Given the description of an element on the screen output the (x, y) to click on. 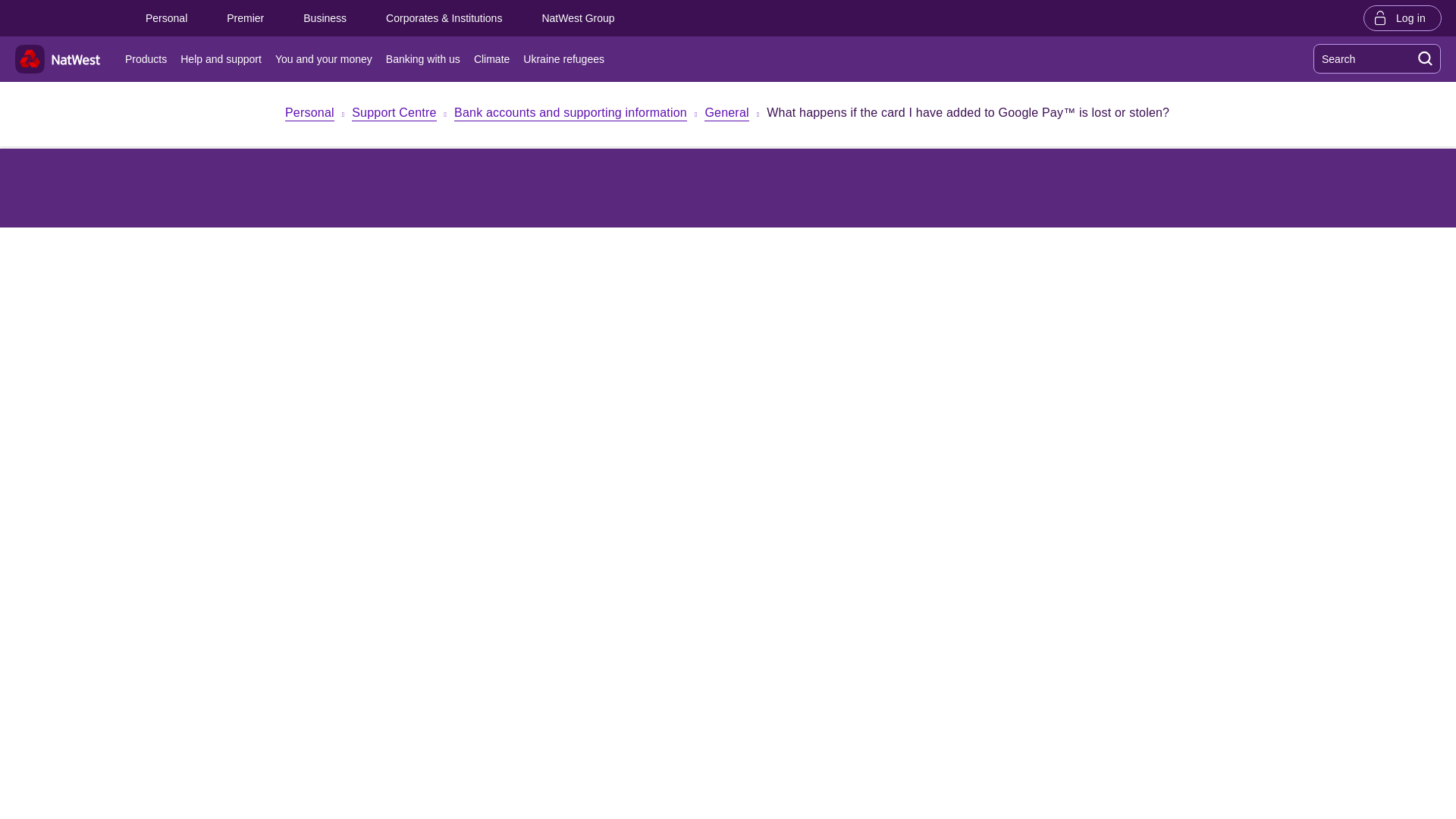
Premier (244, 18)
Support Centre (393, 114)
Personal (309, 114)
Products (149, 58)
Business (324, 18)
General (726, 114)
Log in (1402, 17)
NatWest Group (577, 18)
Personal (165, 18)
NatWest Logo (57, 59)
